Given the description of an element on the screen output the (x, y) to click on. 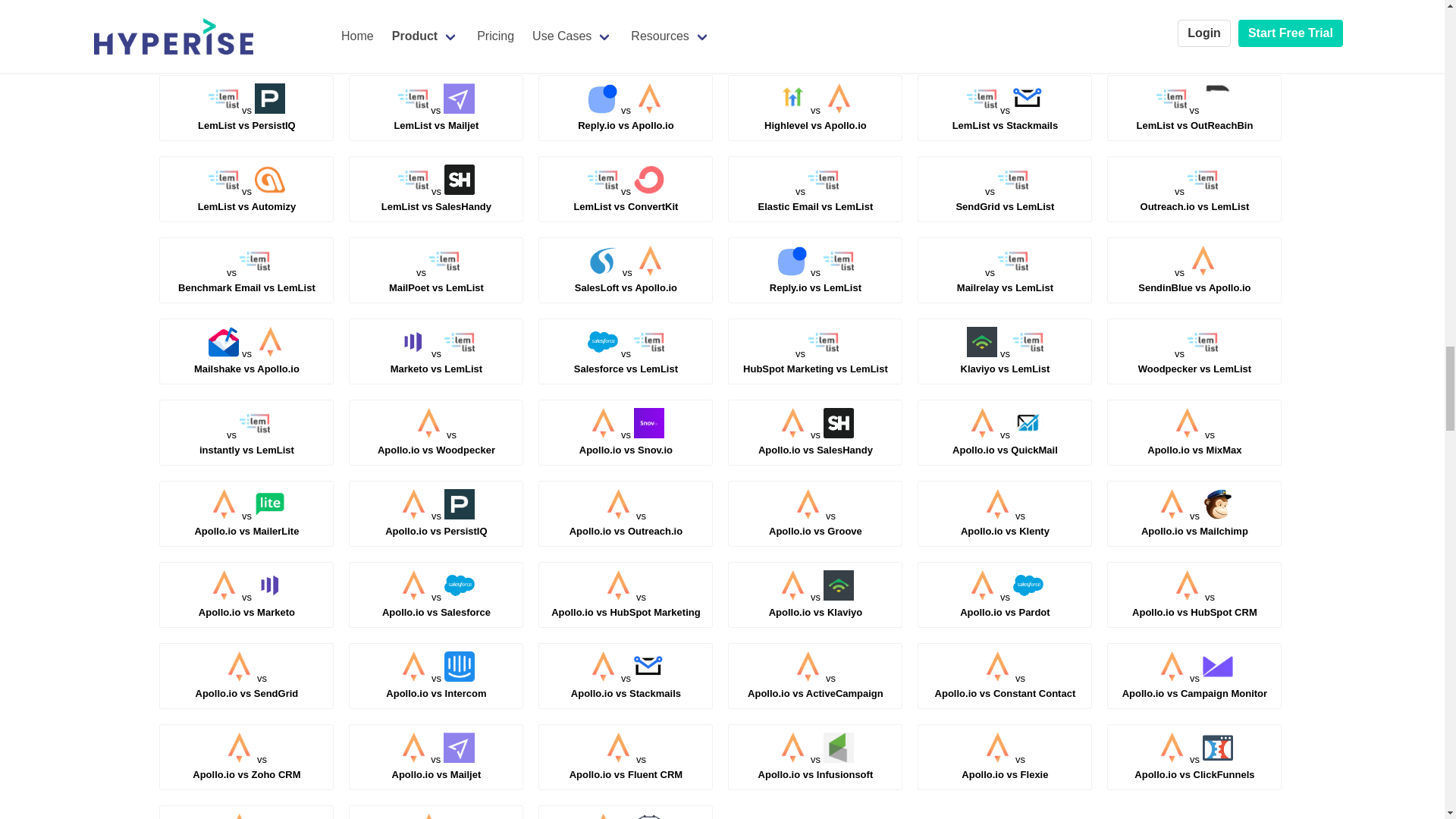
SalesLoft vs LemList (625, 36)
Highlevel vs Apollo.io (815, 36)
LemList vs Mailjet (815, 117)
LemList vs Mailshake (436, 117)
LemList vs Campaign Monitor (1006, 36)
Aweber vs LemList (1194, 36)
Reply.io vs Apollo.io (246, 36)
